Given the description of an element on the screen output the (x, y) to click on. 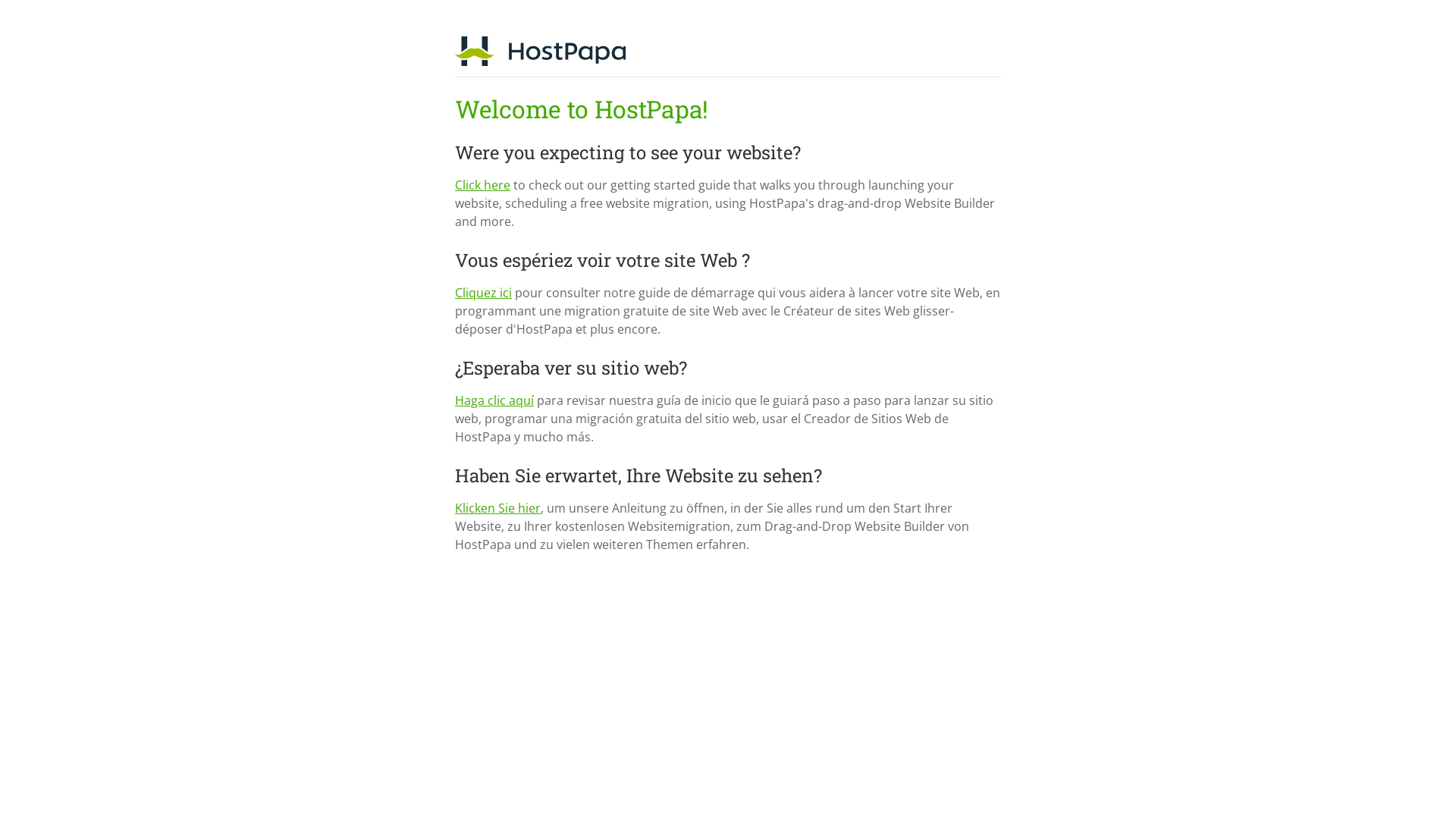
Klicken Sie hier Element type: text (497, 507)
Click here Element type: text (482, 184)
Cliquez ici Element type: text (483, 292)
